Given the description of an element on the screen output the (x, y) to click on. 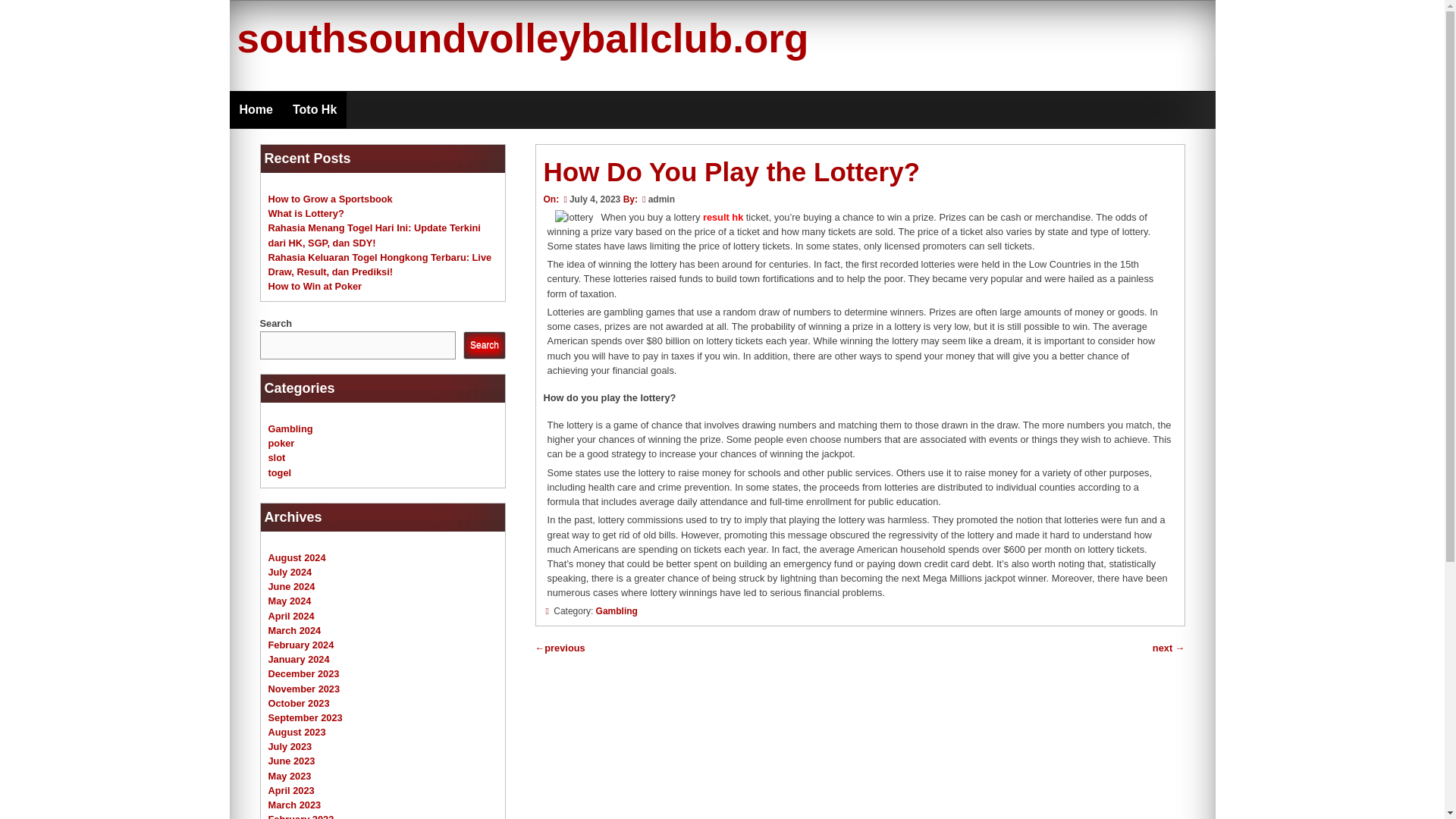
How to Grow a Sportsbook (330, 198)
June 2023 (291, 760)
November 2023 (303, 687)
result hk (722, 216)
February 2024 (300, 644)
What is Lottery? (305, 213)
Gambling (616, 611)
Home (255, 109)
December 2023 (303, 673)
